Given the description of an element on the screen output the (x, y) to click on. 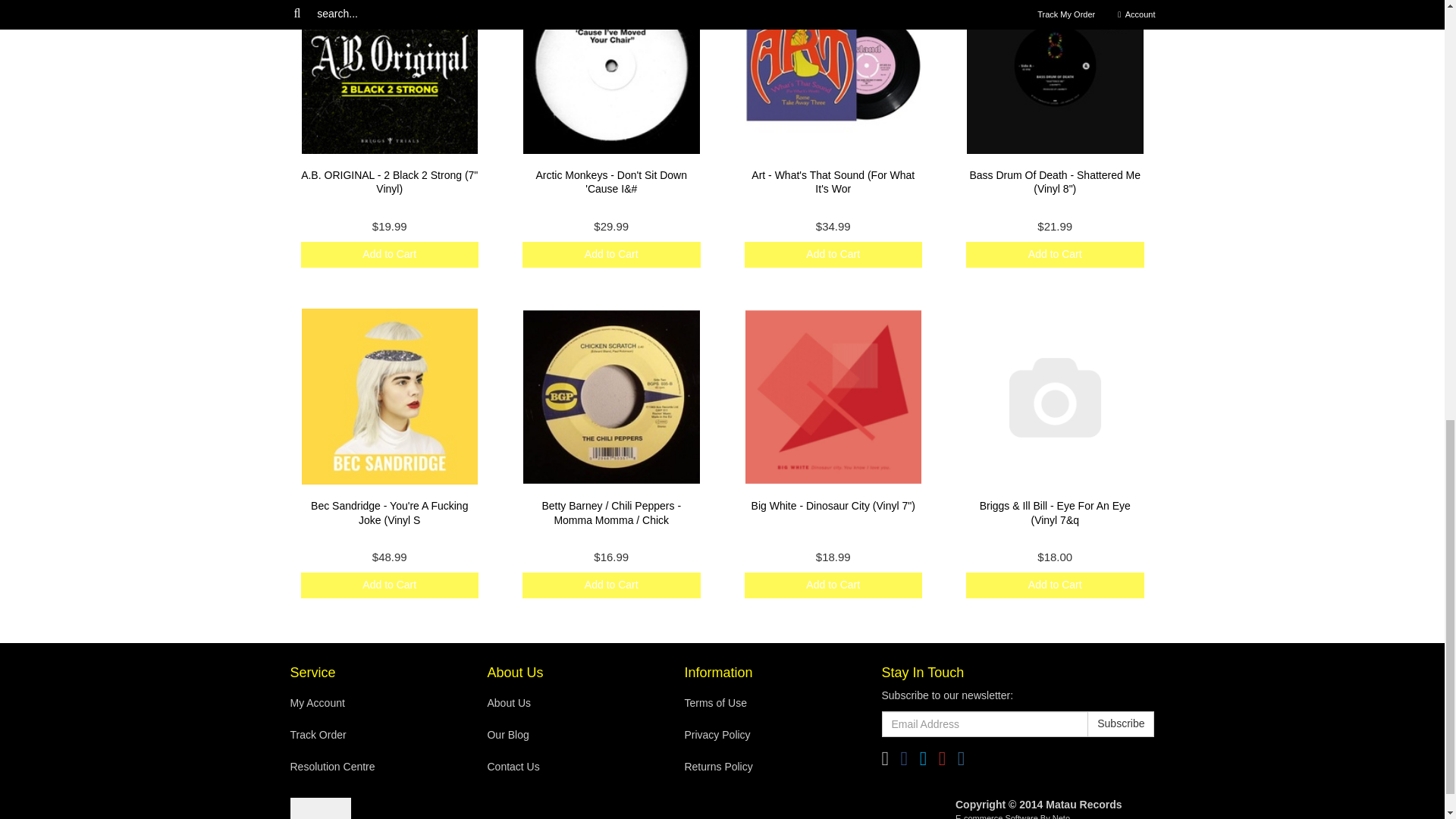
Add to Cart (389, 585)
Add to Cart (833, 585)
Add to Cart (389, 254)
Subscribe (1120, 724)
Add to Cart (611, 254)
Add to Cart (611, 254)
Add to Cart (833, 254)
Add to Cart (1055, 585)
Add to Cart (1055, 254)
Add to Cart (611, 585)
